Given the description of an element on the screen output the (x, y) to click on. 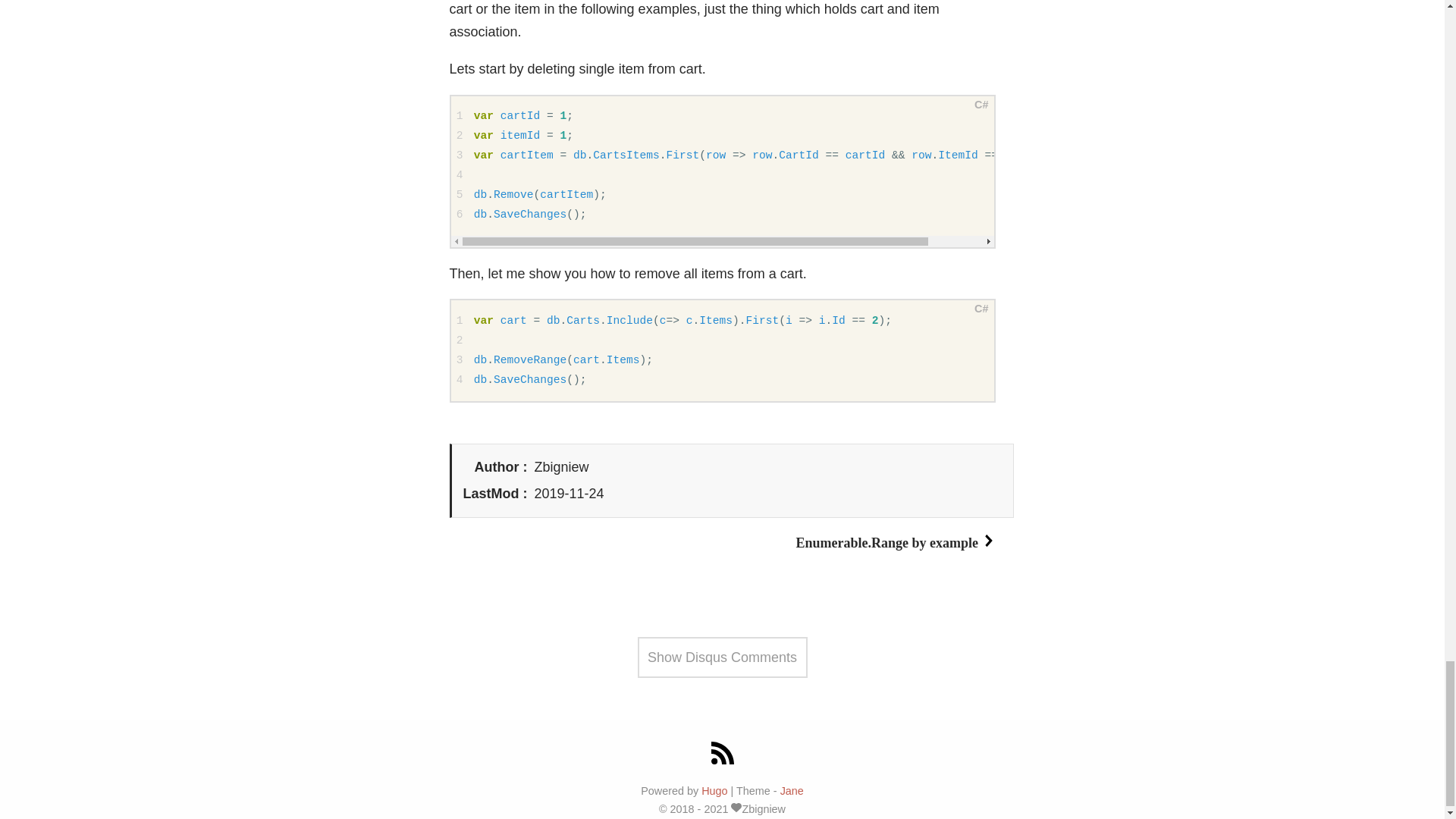
Hugo (713, 790)
Enumerable.Range by example (895, 543)
Jane (791, 790)
